Given the description of an element on the screen output the (x, y) to click on. 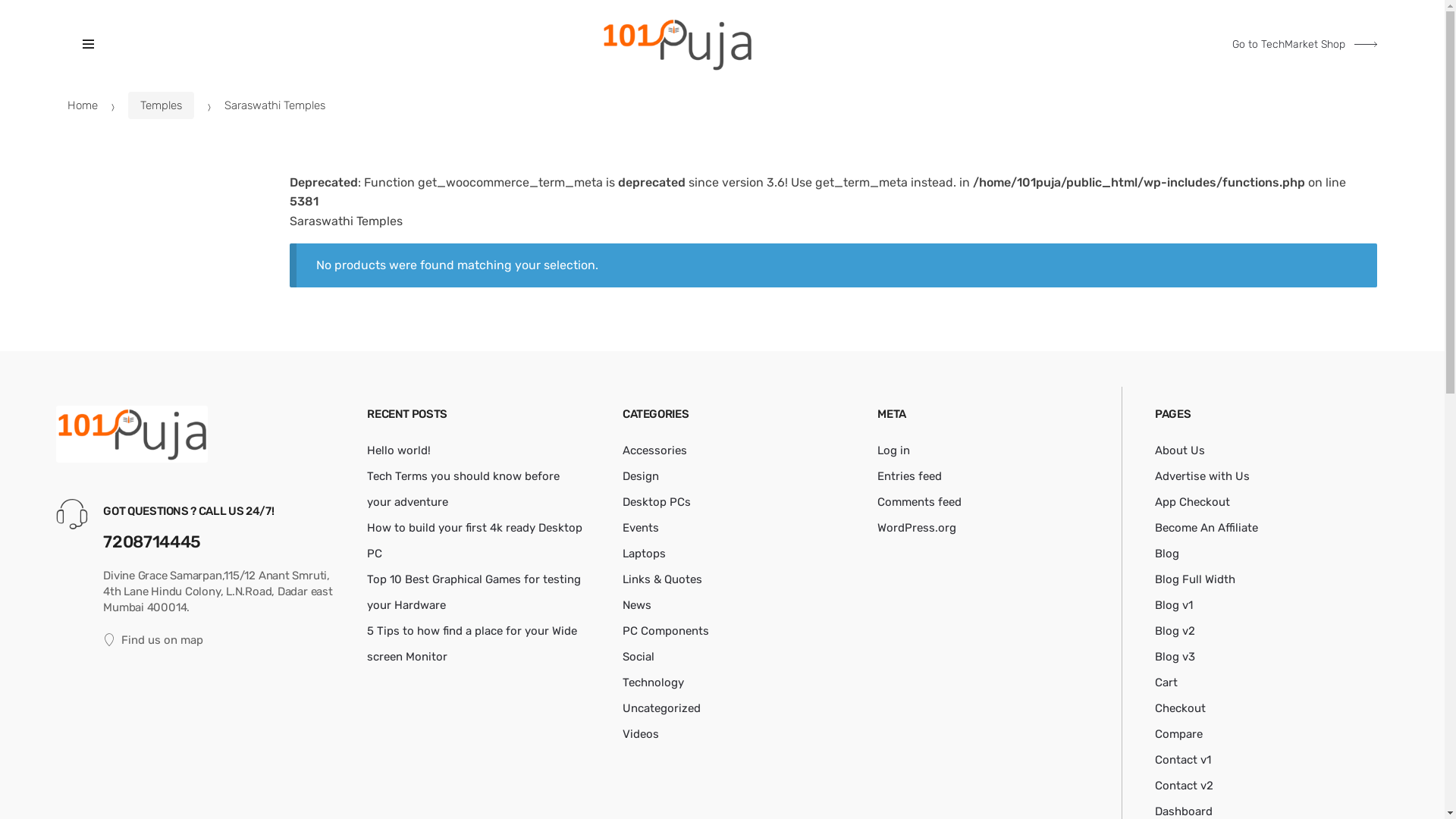
How to build your first 4k ready Desktop PC Element type: text (474, 540)
Top 10 Best Graphical Games for testing your Hardware Element type: text (473, 591)
5 Tips to how find a place for your Wide screen Monitor Element type: text (472, 643)
News Element type: text (636, 604)
Contact v2 Element type: text (1183, 785)
Become An Affiliate Element type: text (1206, 527)
Accessories Element type: text (654, 450)
Advertise with Us Element type: text (1201, 476)
Social Element type: text (638, 656)
Events Element type: text (640, 527)
Contact v1 Element type: text (1182, 759)
Go to TechMarket Shop Element type: text (1304, 44)
Technology Element type: text (653, 682)
Blog Element type: text (1166, 553)
Design Element type: text (640, 476)
Log in Element type: text (893, 450)
About Us Element type: text (1179, 450)
Cart Element type: text (1165, 682)
App Checkout Element type: text (1192, 501)
PC Components Element type: text (665, 630)
Videos Element type: text (640, 733)
Checkout Element type: text (1179, 708)
Laptops Element type: text (643, 553)
Compare Element type: text (1178, 733)
Links & Quotes Element type: text (662, 579)
Blog v1 Element type: text (1173, 604)
Dashboard Element type: text (1183, 811)
Home Element type: text (82, 105)
Hello world! Element type: text (398, 450)
Blog v2 Element type: text (1174, 630)
Find us on map Element type: text (223, 639)
Comments feed Element type: text (919, 501)
Blog Full Width Element type: text (1194, 579)
Entries feed Element type: text (909, 476)
Uncategorized Element type: text (661, 708)
Temples Element type: text (161, 105)
Tech Terms you should know before your adventure Element type: text (463, 488)
Desktop PCs Element type: text (656, 501)
WordPress.org Element type: text (916, 527)
Blog v3 Element type: text (1174, 656)
